Given the description of an element on the screen output the (x, y) to click on. 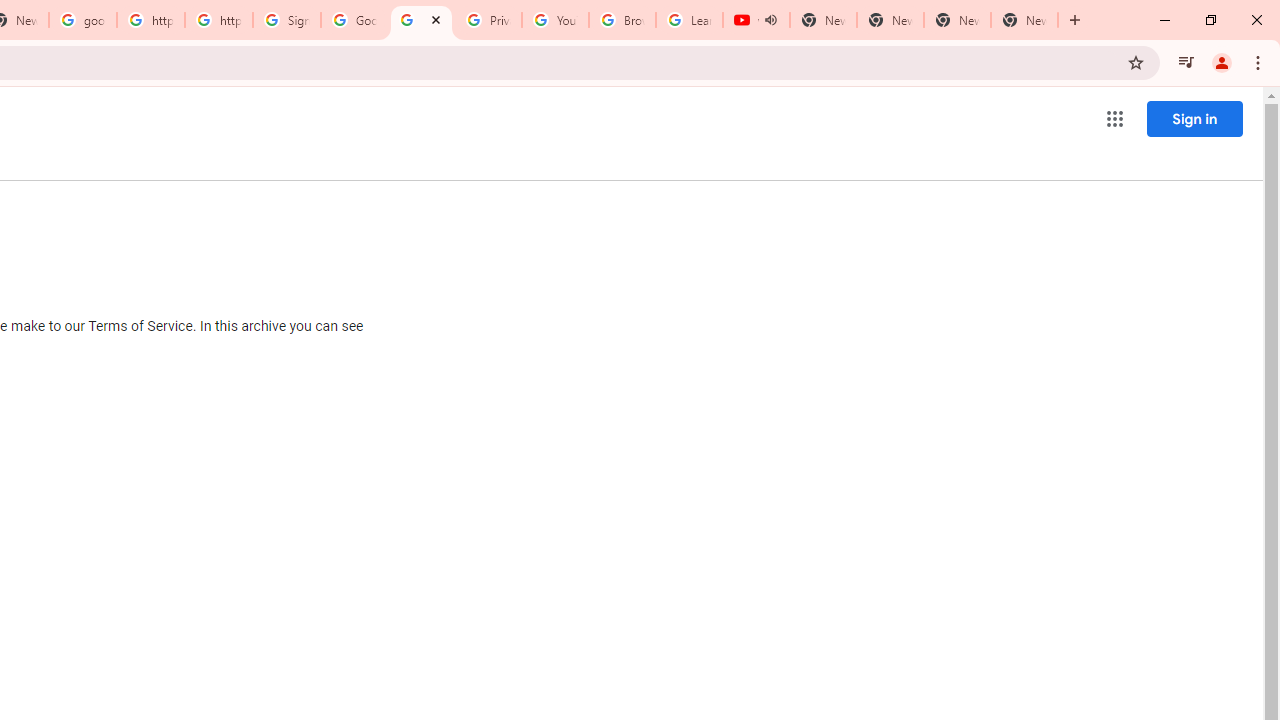
New Tab (1024, 20)
Control your music, videos, and more (1185, 62)
Close (436, 19)
Mute tab (770, 20)
Chrome (1260, 62)
https://scholar.google.com/ (150, 20)
Browse Chrome as a guest - Computer - Google Chrome Help (622, 20)
Sign in - Google Accounts (287, 20)
YouTube (555, 20)
Restore (1210, 20)
Sign in (1194, 118)
https://scholar.google.com/ (219, 20)
Minimize (1165, 20)
